Given the description of an element on the screen output the (x, y) to click on. 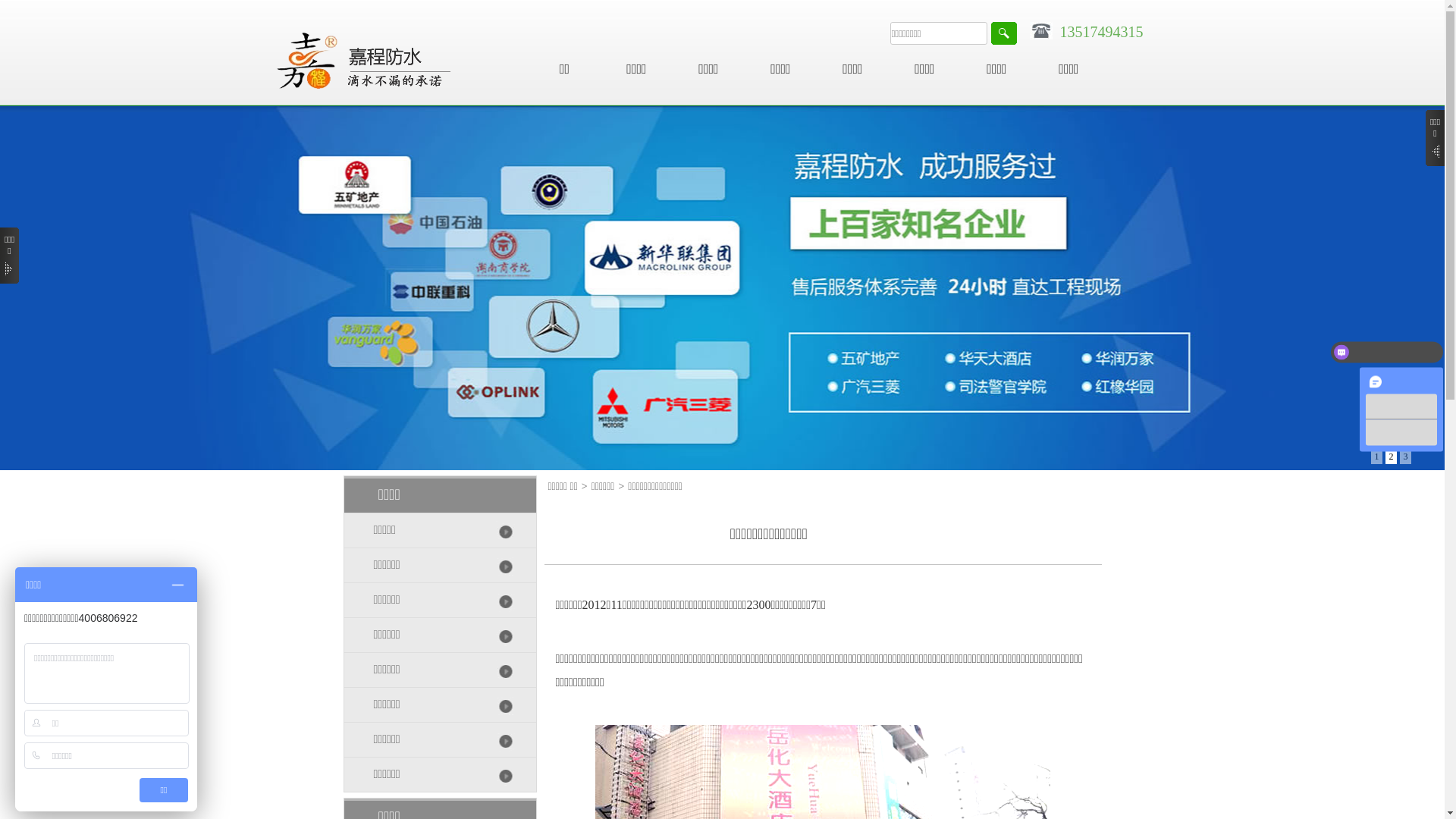
2 Element type: text (1390, 457)
3 Element type: text (1405, 457)
1 Element type: text (1376, 457)
